Given the description of an element on the screen output the (x, y) to click on. 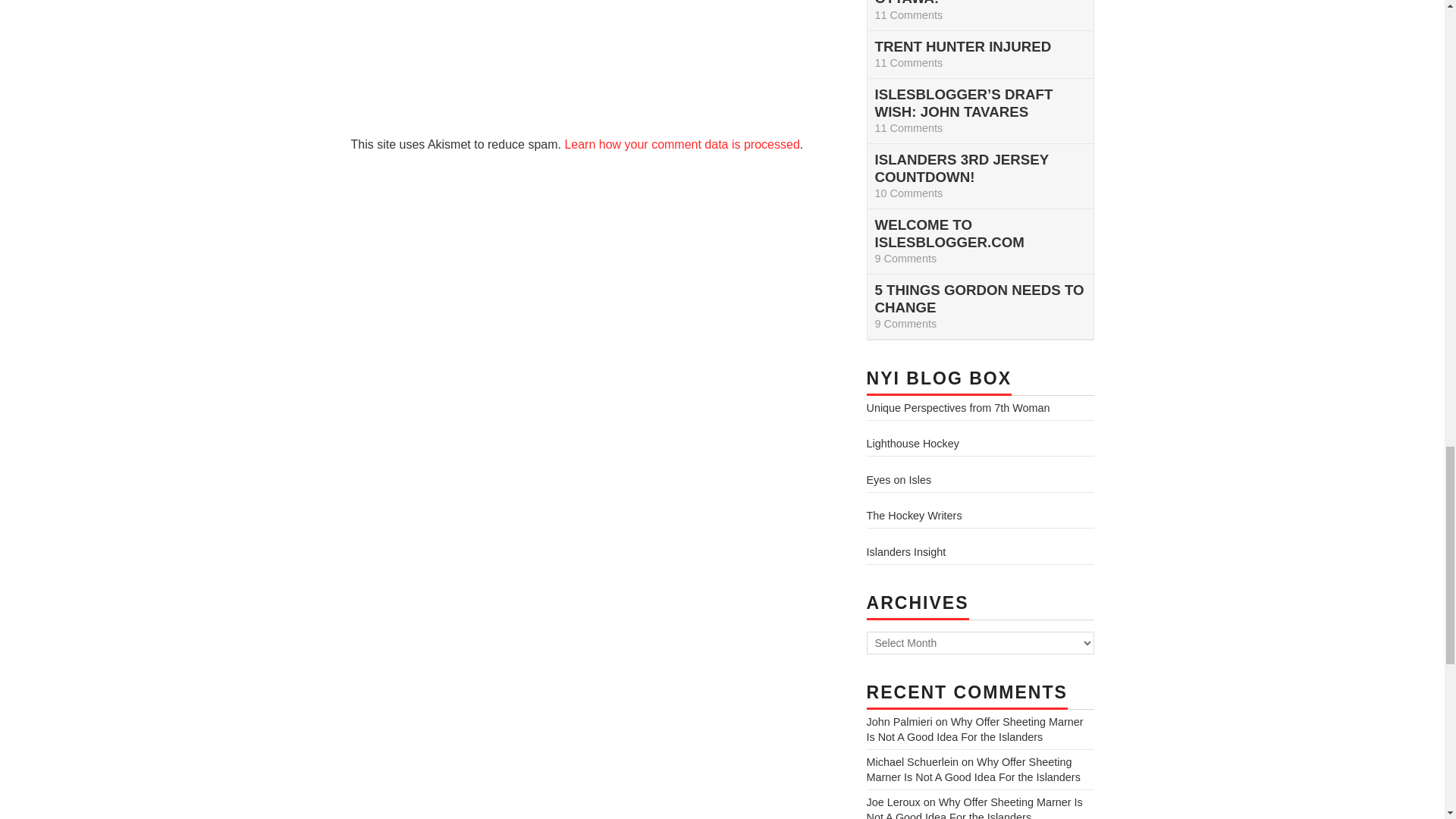
Learn how your comment data is processed (681, 144)
ISLANDERS 3RD JERSEY COUNTDOWN! (961, 167)
Comment Form (592, 63)
ISLANDERS LOOK TO ATTACK OTTAWA! (979, 2)
TRENT HUNTER INJURED (963, 46)
